Given the description of an element on the screen output the (x, y) to click on. 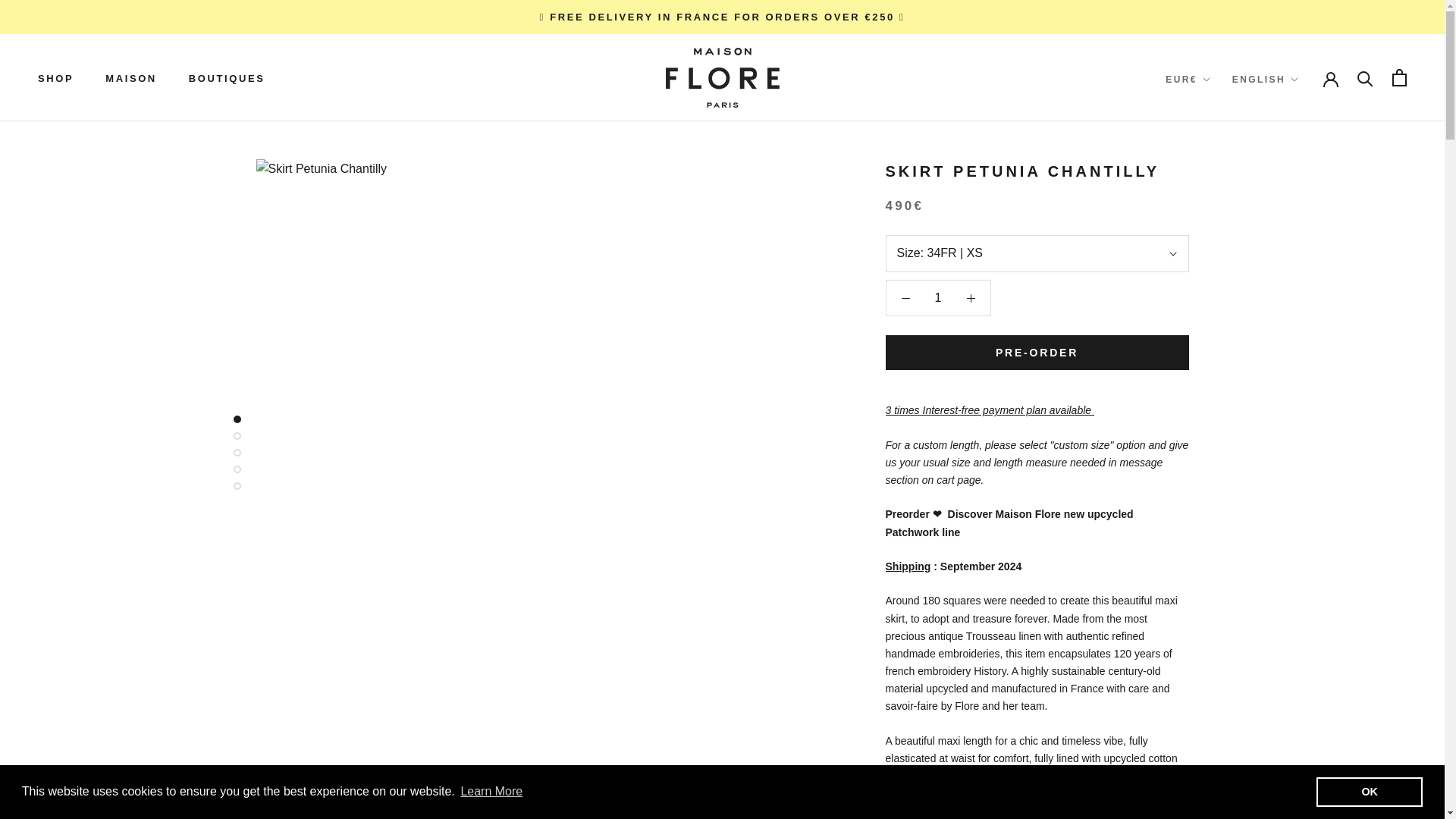
1 (938, 297)
OK (1369, 791)
Learn More (491, 791)
